Given the description of an element on the screen output the (x, y) to click on. 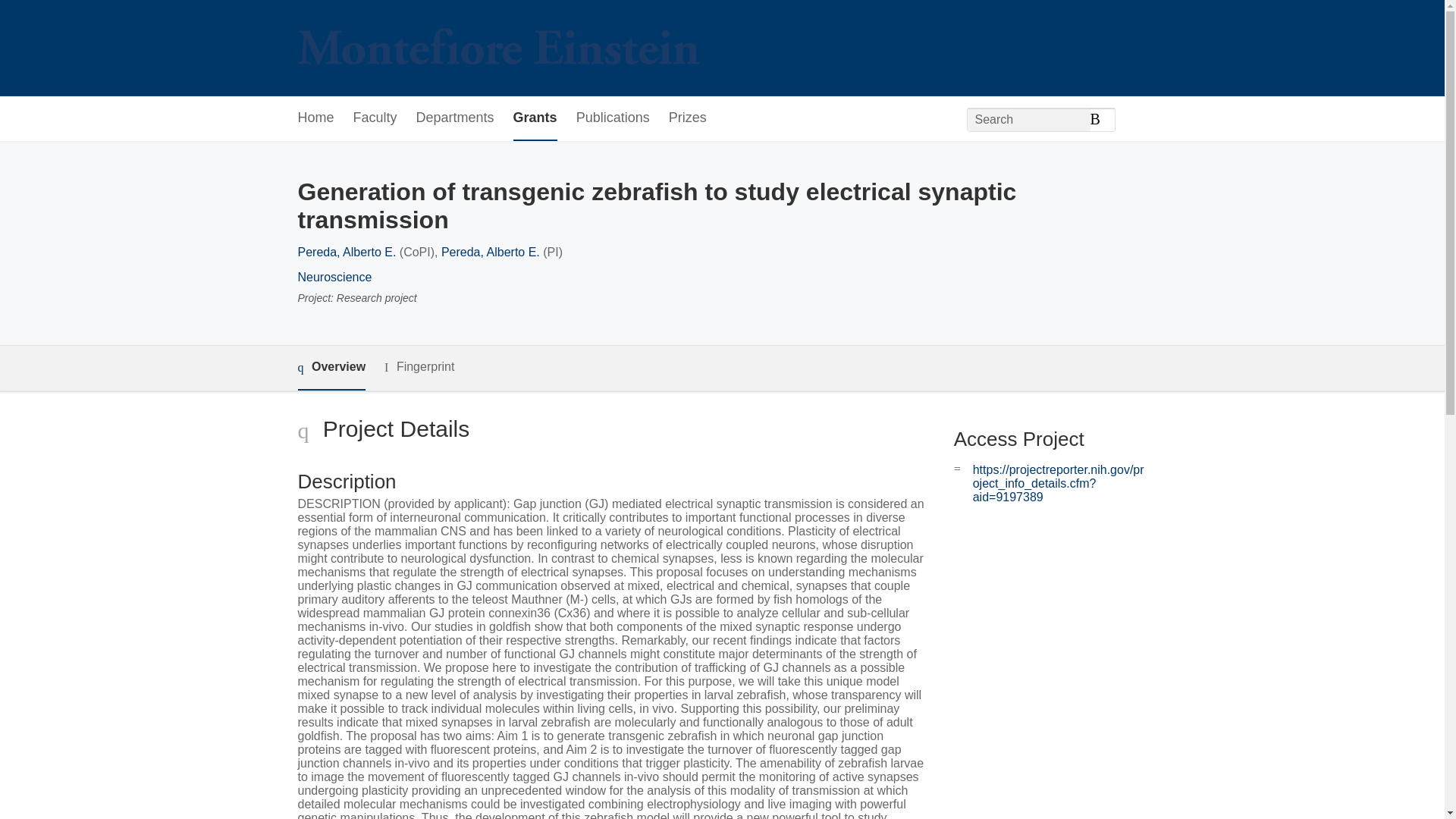
Faculty (375, 118)
Pereda, Alberto E. (346, 251)
Albert Einstein College of Medicine Home (497, 48)
Fingerprint (419, 367)
Pereda, Alberto E. (490, 251)
Departments (455, 118)
Neuroscience (334, 277)
Publications (612, 118)
Overview (331, 367)
